Given the description of an element on the screen output the (x, y) to click on. 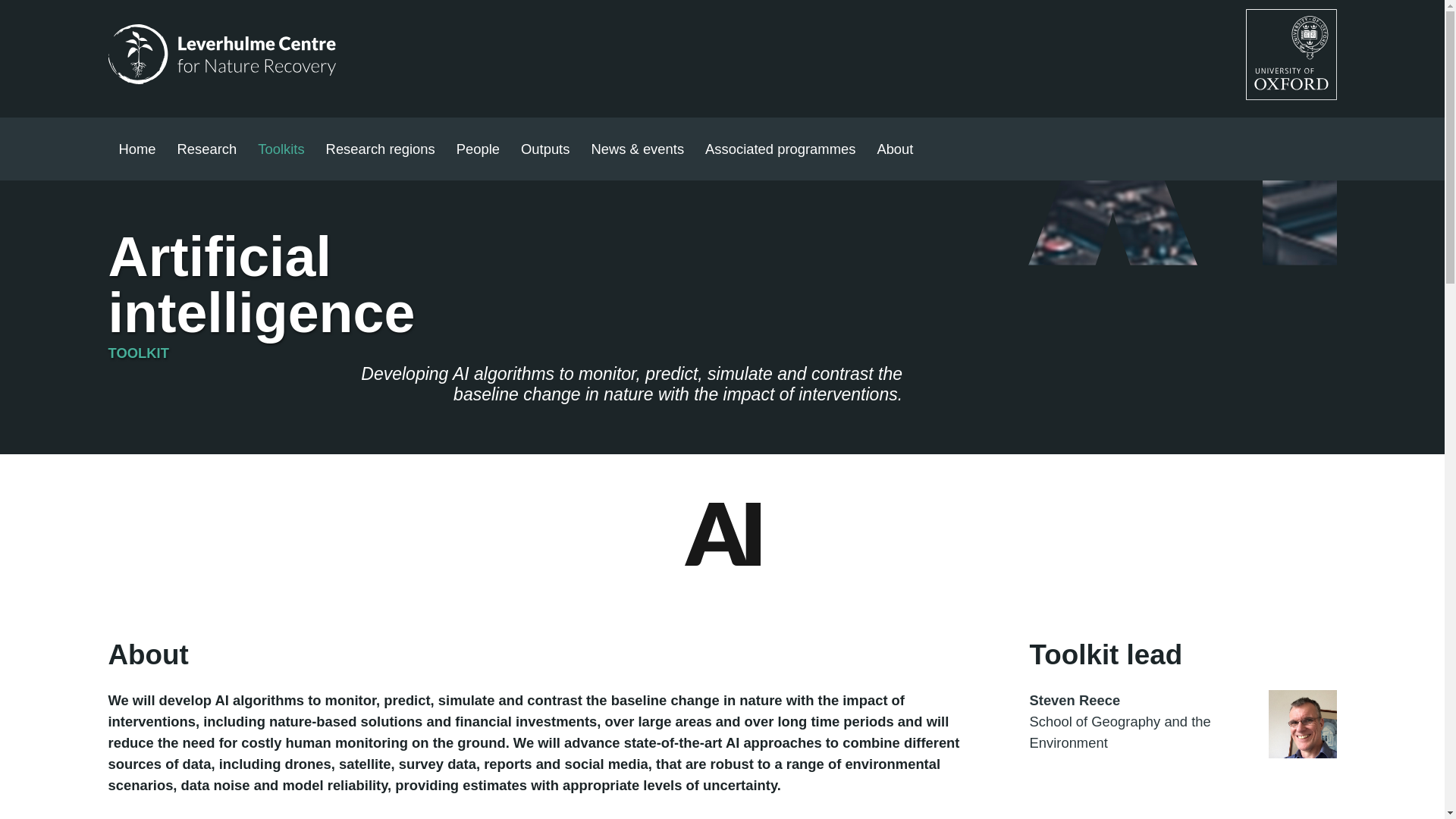
Research regions (380, 148)
Outputs (545, 148)
School of Geography and the Environment (1120, 732)
Leverhulme Center for Nature Recovery homepage (220, 54)
Home (136, 148)
Oxford University website (1290, 54)
Toolkits (280, 148)
About (894, 148)
People (478, 148)
Steven Reece (1182, 700)
